Given the description of an element on the screen output the (x, y) to click on. 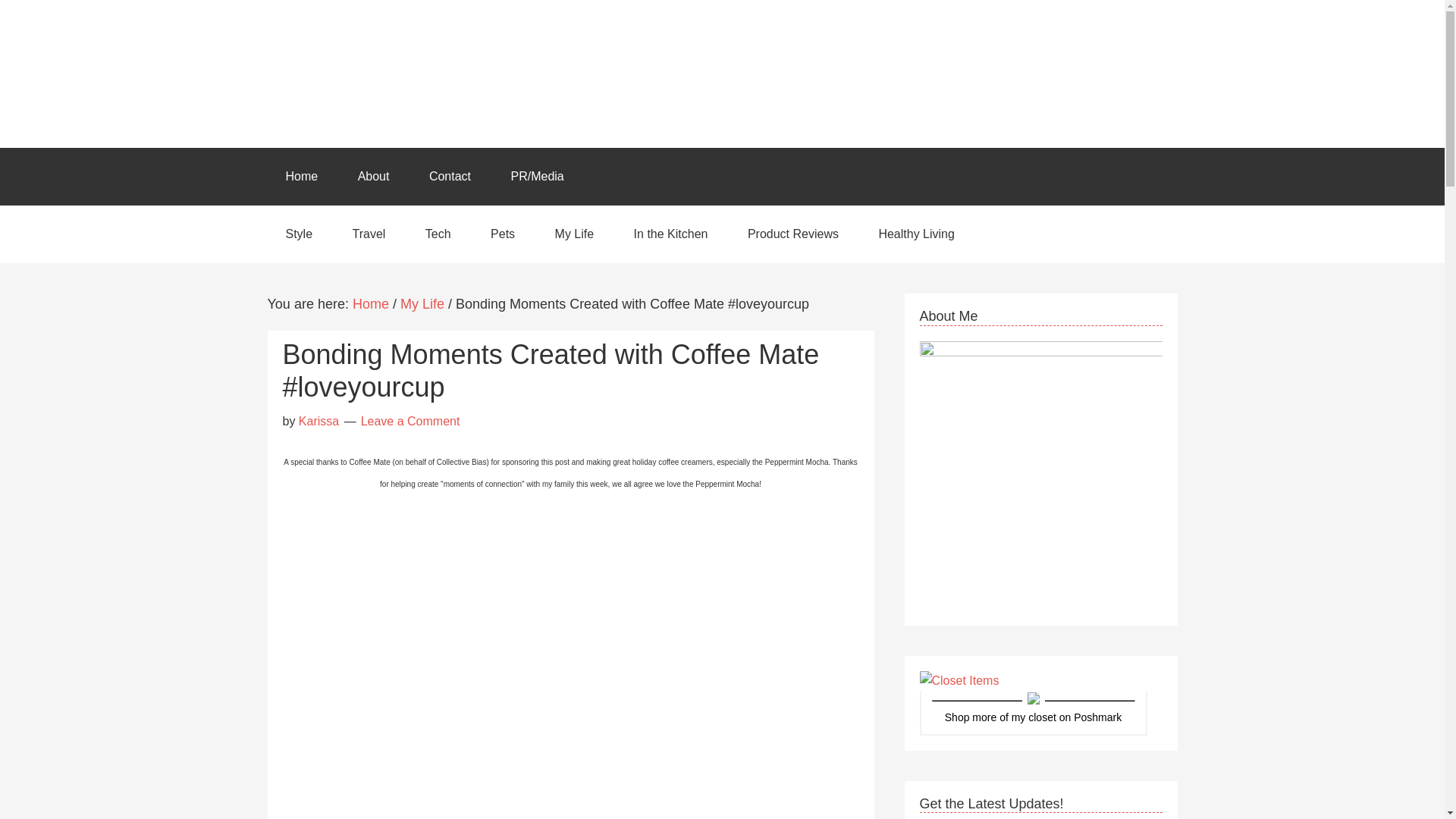
Poshmark (1097, 717)
My Life (574, 233)
my closet (1034, 717)
About (373, 176)
Leave a Comment (410, 420)
Poshmark (1097, 717)
Home (301, 176)
Home (370, 304)
withourbest (1034, 717)
In the Kitchen (670, 233)
